Given the description of an element on the screen output the (x, y) to click on. 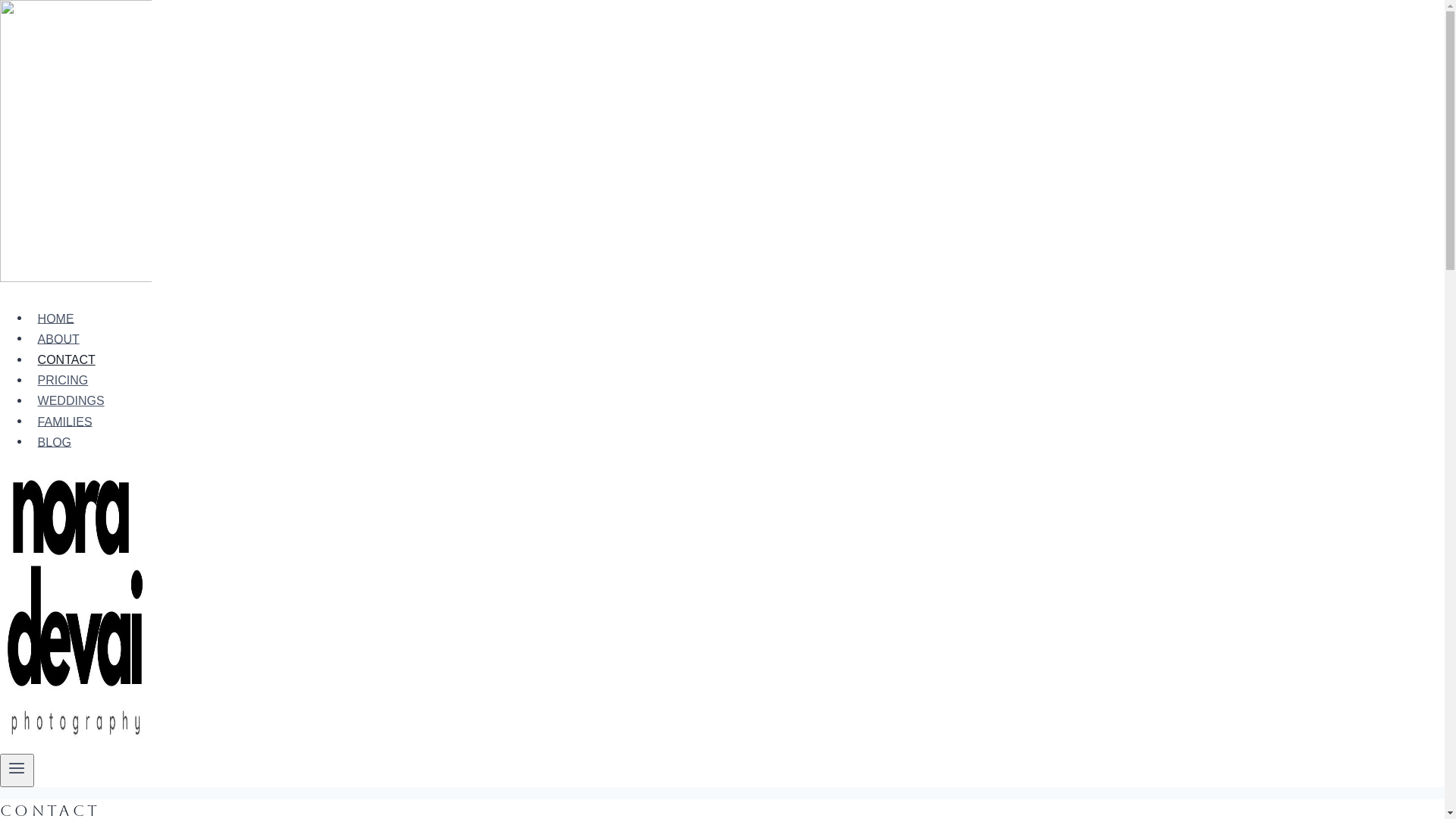
WEDDINGS Element type: text (70, 400)
PRICING Element type: text (62, 379)
Toggle Menu Element type: text (17, 770)
BLOG Element type: text (54, 441)
FAMILIES Element type: text (64, 421)
CONTACT Element type: text (66, 359)
ABOUT Element type: text (58, 338)
HOME Element type: text (55, 318)
